Given the description of an element on the screen output the (x, y) to click on. 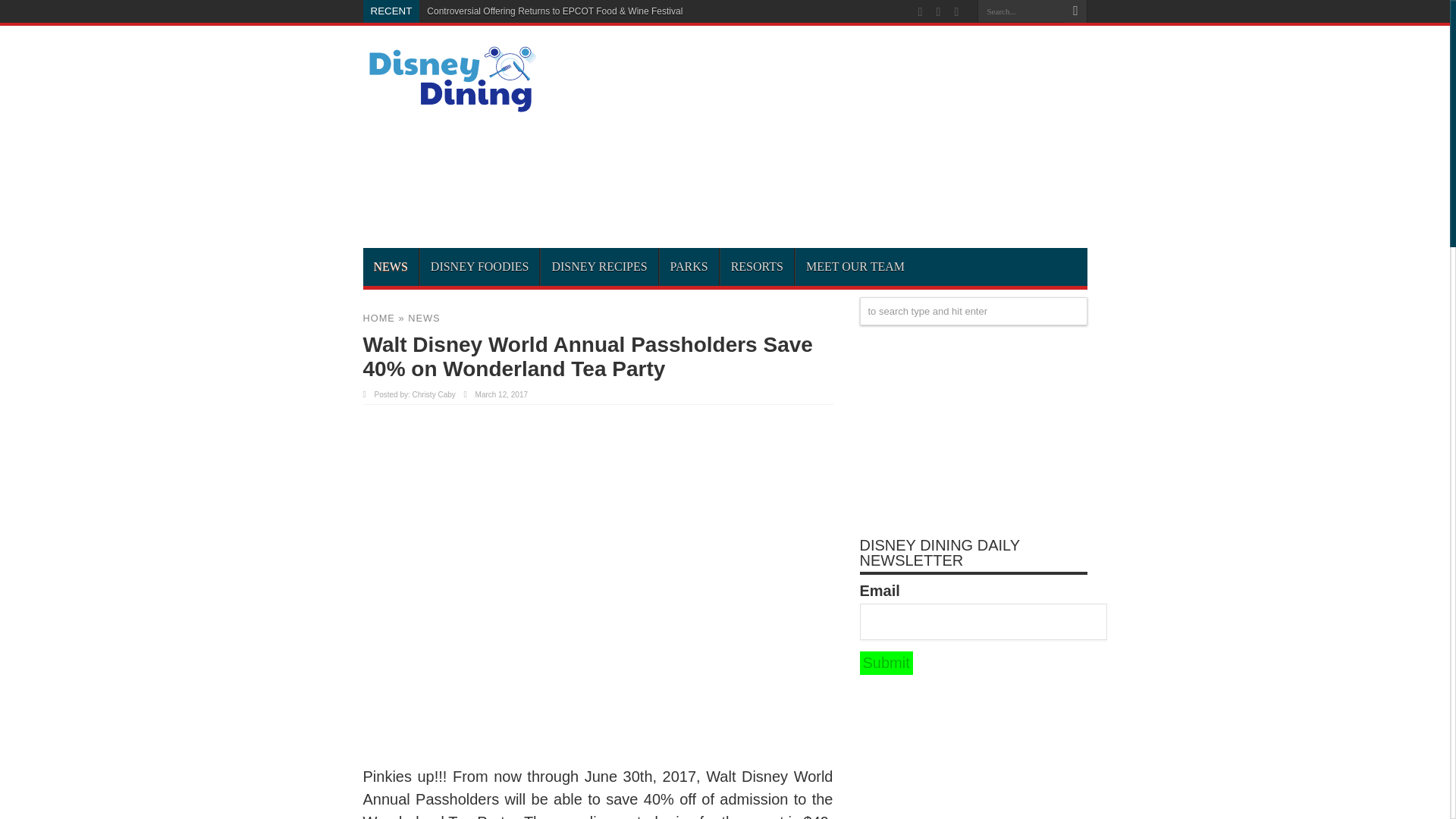
NEWS (389, 266)
MEET OUR TEAM (854, 266)
Christy Caby (433, 394)
DISNEY RECIPES (599, 266)
to search type and hit enter (973, 311)
RESORTS (756, 266)
Search (1075, 11)
NEWS (423, 317)
Submit (886, 662)
DISNEY FOODIES (479, 266)
